Given the description of an element on the screen output the (x, y) to click on. 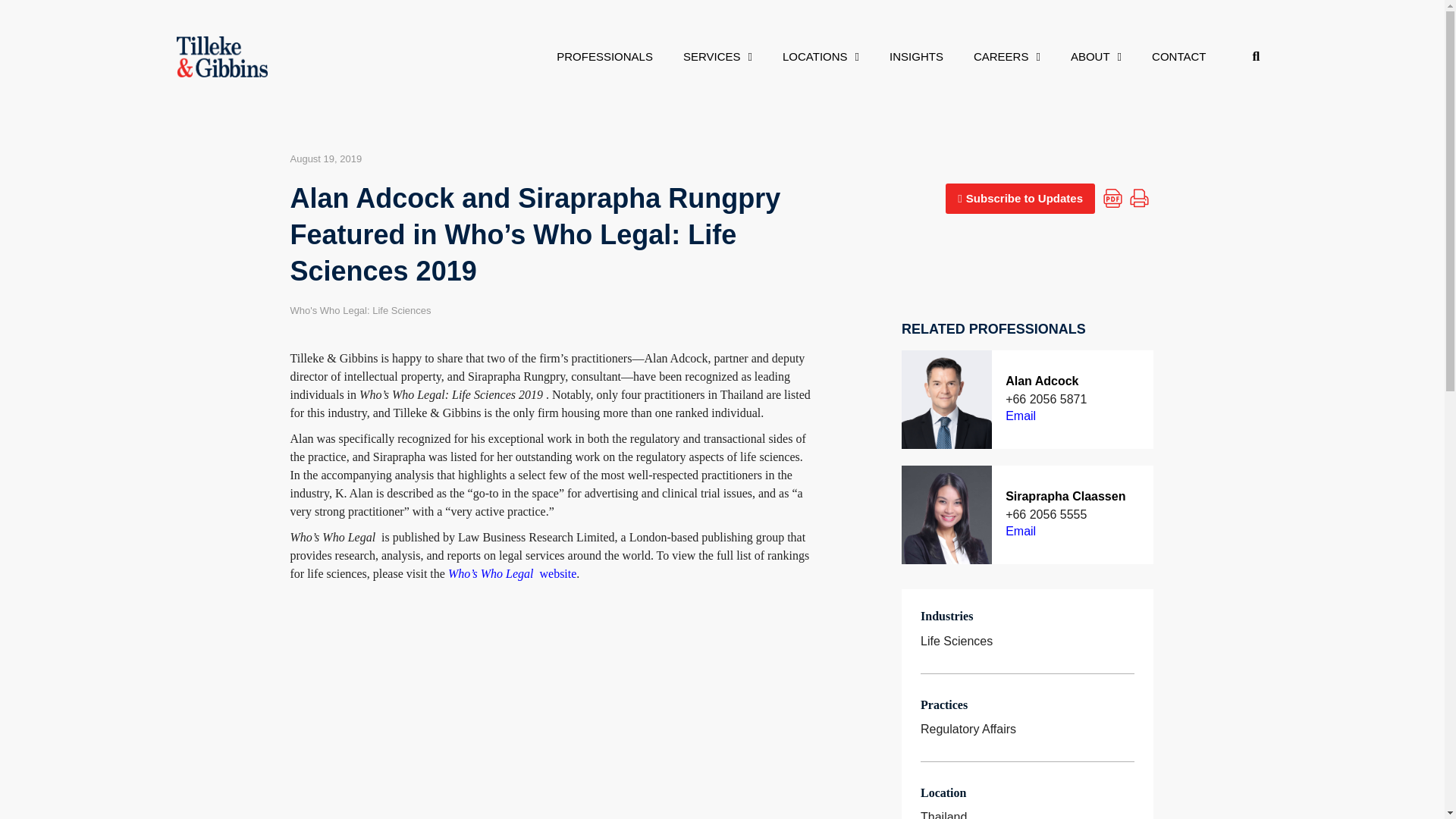
ABOUT (1096, 56)
PROFESSIONALS (604, 56)
LOCATIONS (821, 56)
CAREERS (1006, 56)
INSIGHTS (916, 56)
SERVICES (717, 56)
